Given the description of an element on the screen output the (x, y) to click on. 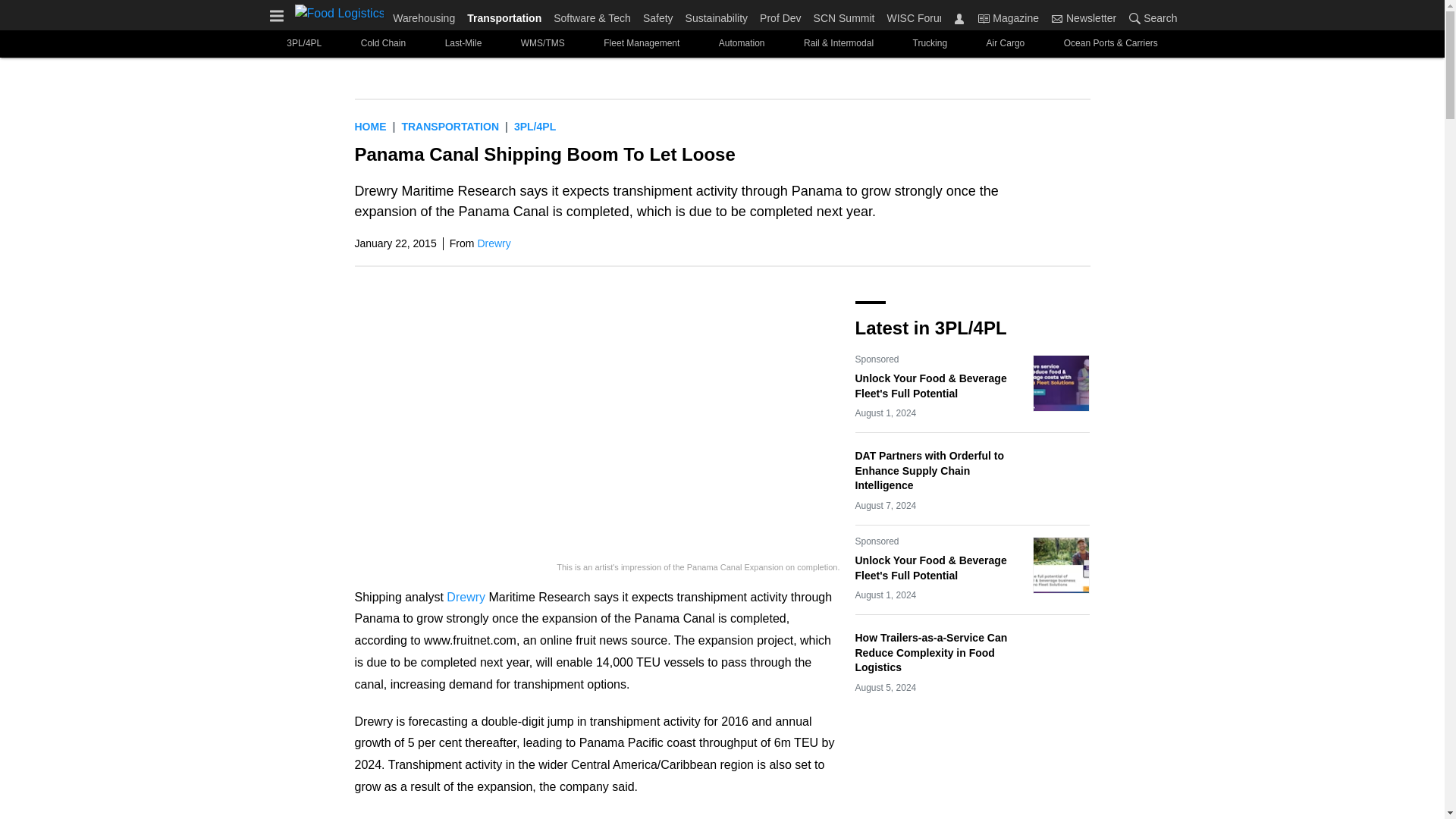
Sponsored (877, 359)
Sustainability (716, 15)
WISC Forum (913, 15)
Magazine (1008, 17)
Fleet Management (642, 43)
Safety (658, 15)
Newsletter (1083, 17)
Search (1134, 18)
Sign In (959, 18)
Air Cargo (1005, 43)
